Given the description of an element on the screen output the (x, y) to click on. 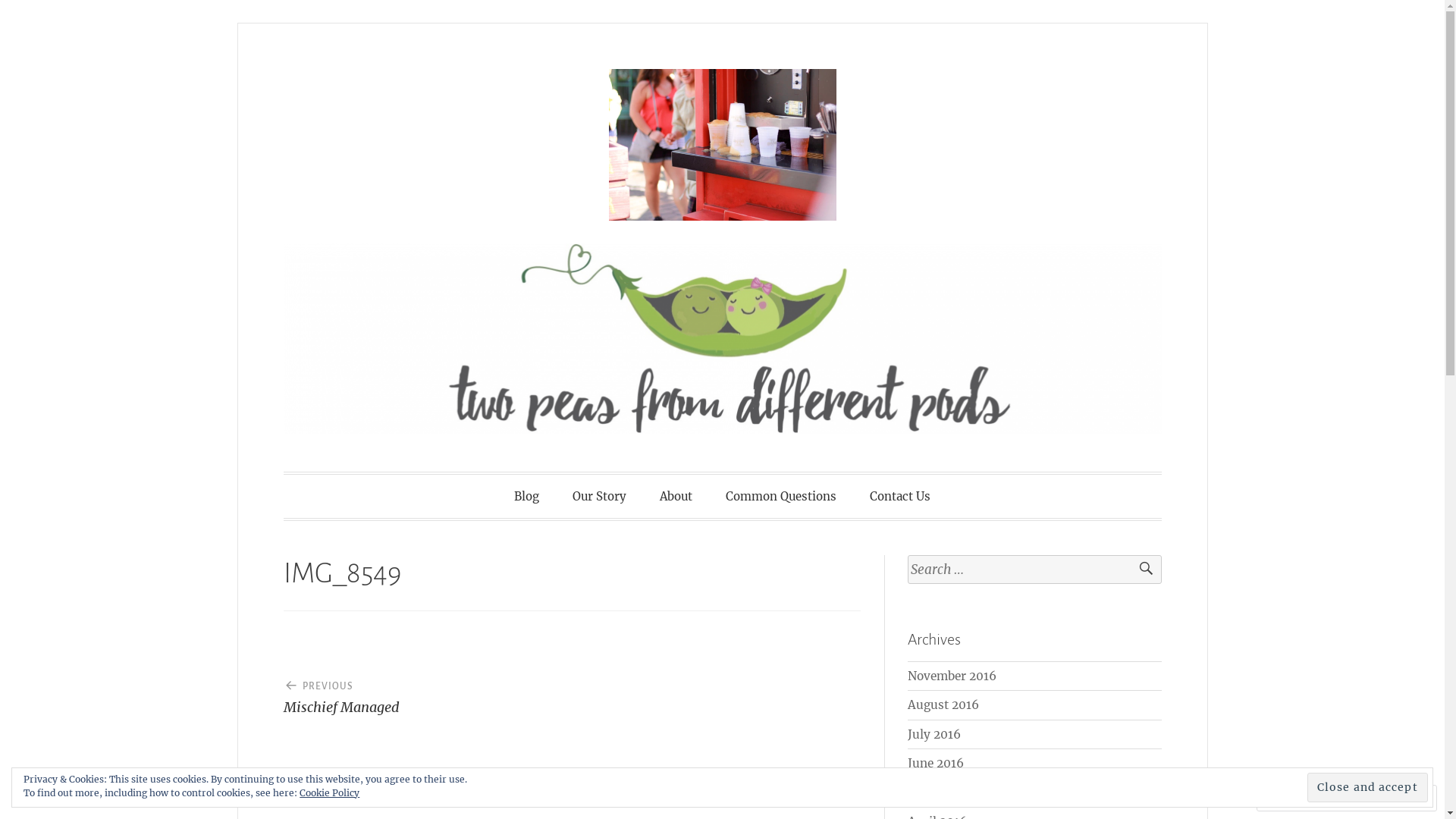
Follow Element type: text (1373, 797)
About Element type: text (675, 496)
June 2016 Element type: text (935, 763)
July 2016 Element type: text (933, 734)
Search Element type: text (1138, 569)
November 2016 Element type: text (951, 675)
Cookie Policy Element type: text (329, 792)
Blog Element type: text (526, 496)
Comment Element type: text (1297, 797)
2 Peas From Different Pods Element type: text (570, 494)
May 2016 Element type: text (935, 792)
Close and accept Element type: text (1367, 787)
PREVIOUS
Mischief Managed Element type: text (427, 690)
Our Story Element type: text (599, 496)
Common Questions Element type: text (780, 496)
August 2016 Element type: text (943, 704)
Contact Us Element type: text (899, 496)
